Given the description of an element on the screen output the (x, y) to click on. 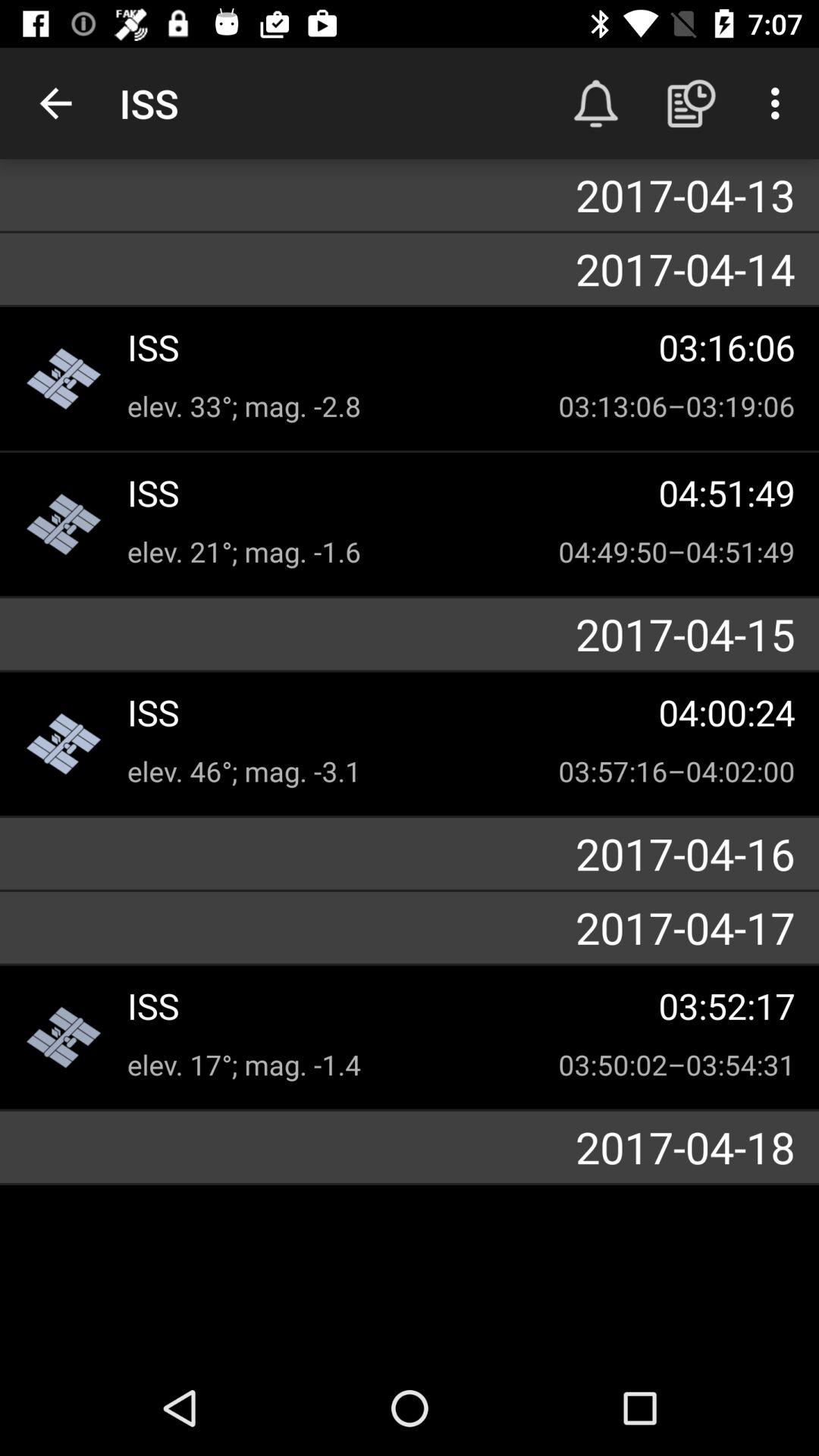
choose icon above the 2017-04-13 icon (55, 103)
